Given the description of an element on the screen output the (x, y) to click on. 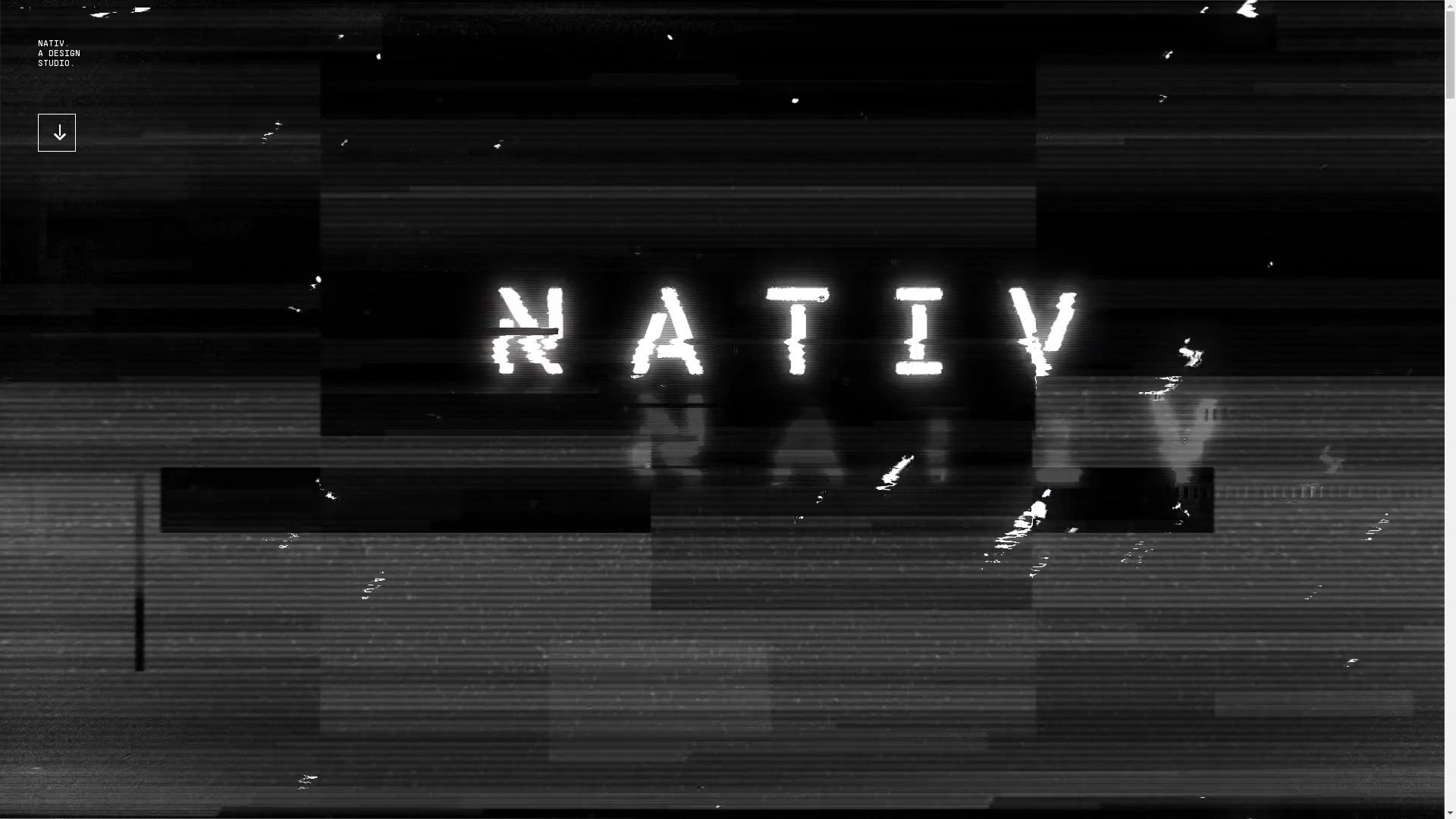
> Element type: text (56, 132)
NATIV.
A DESIGN
STUDIO. Element type: text (58, 52)
